Given the description of an element on the screen output the (x, y) to click on. 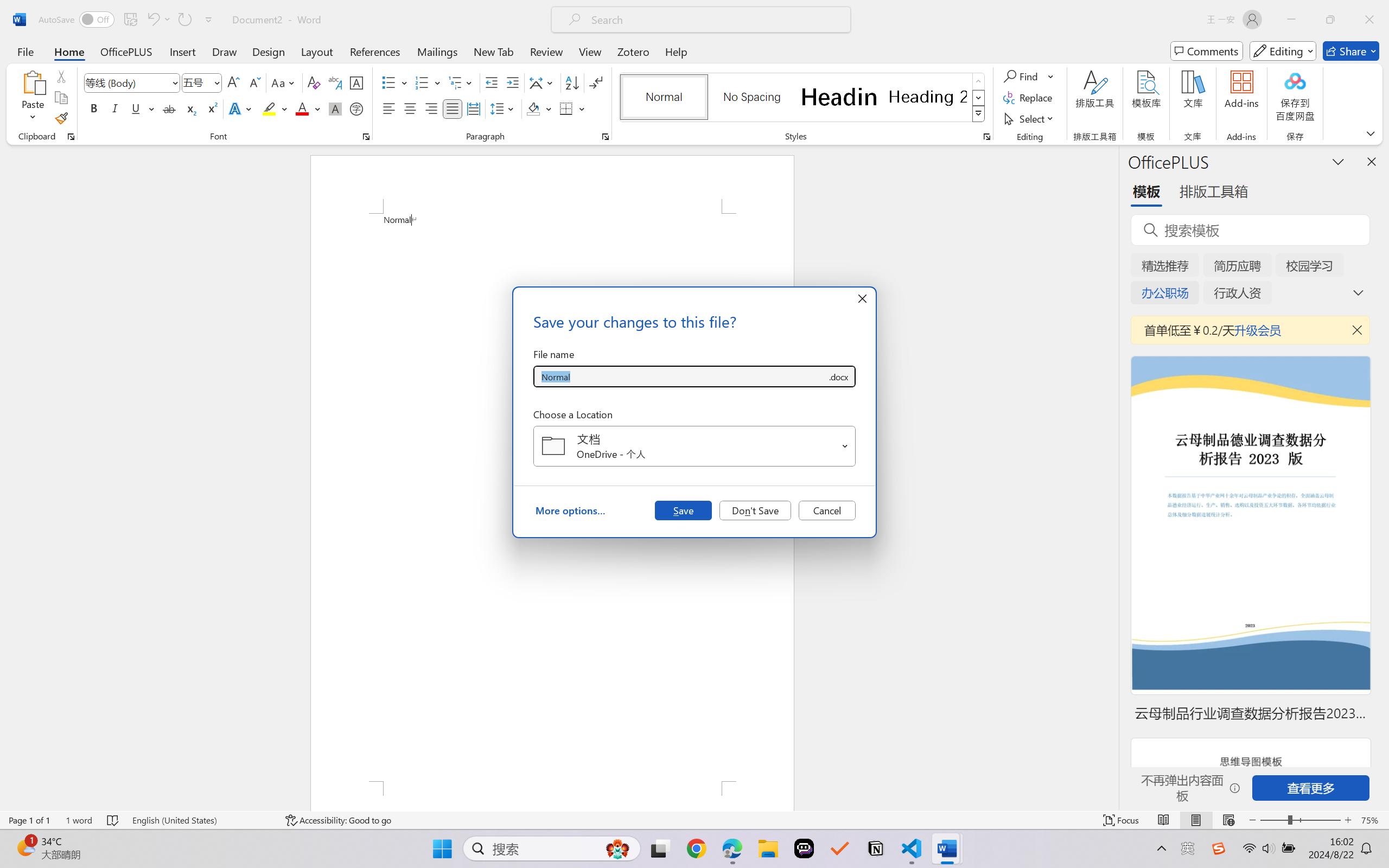
Font (126, 82)
File name (680, 376)
Underline (135, 108)
